Given the description of an element on the screen output the (x, y) to click on. 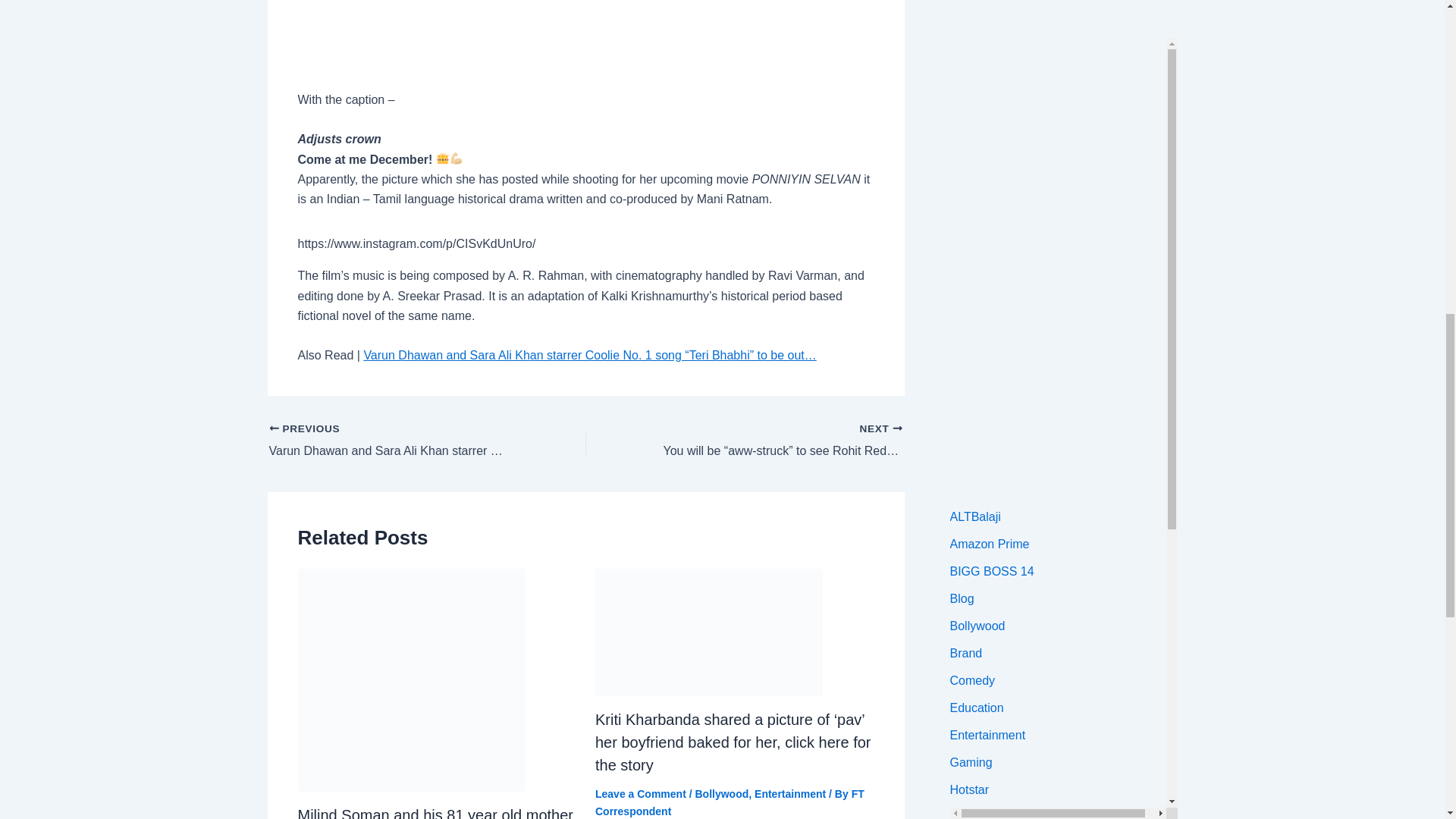
Advertisement (585, 36)
View all posts by FT Correspondent (729, 801)
